Given the description of an element on the screen output the (x, y) to click on. 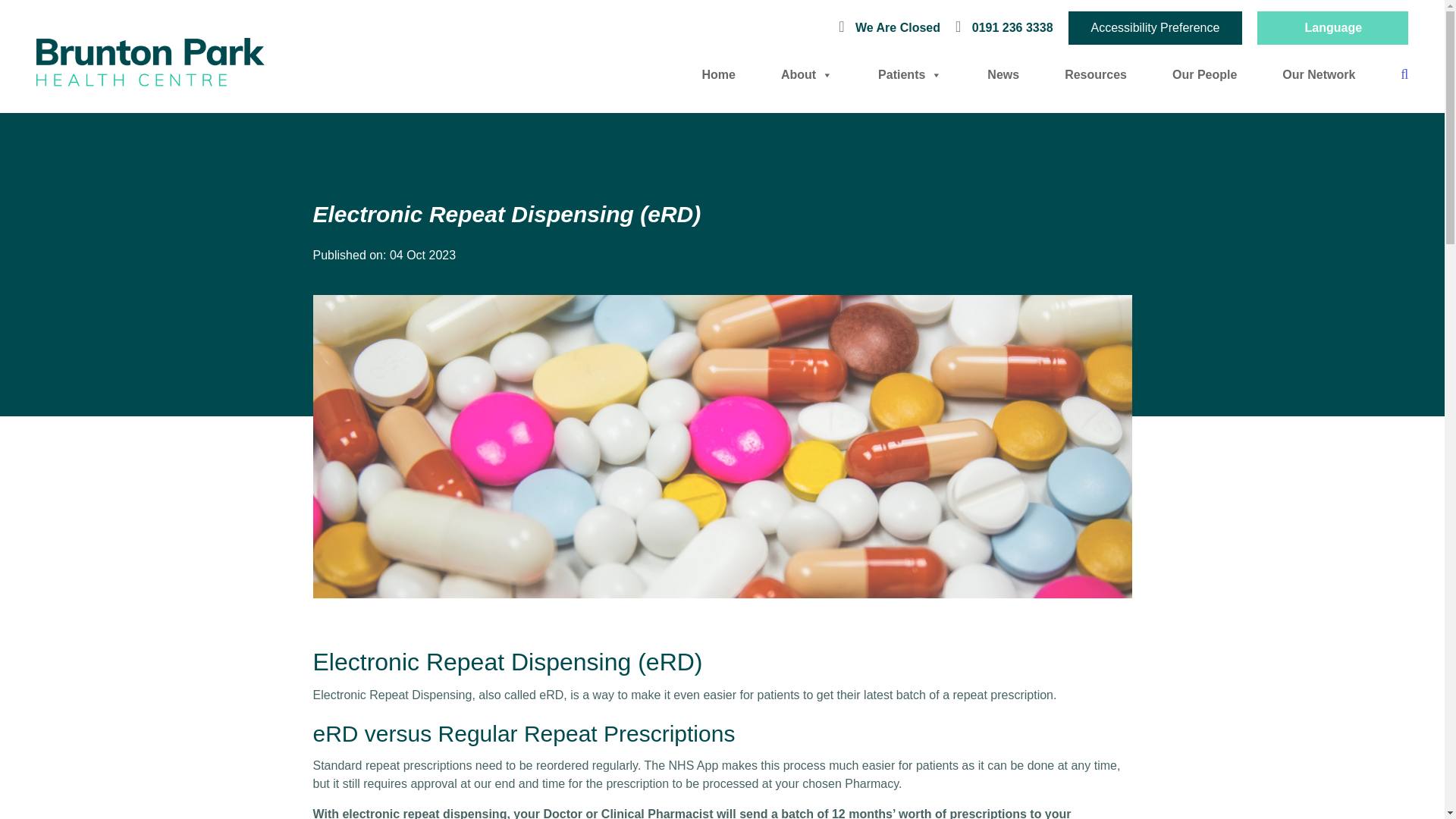
Select Language (1332, 27)
Accessibility Preference (1155, 28)
Call 0191 236 3338 (1003, 27)
About (806, 74)
0191 236 3338 (1003, 27)
Resources (1095, 74)
We Are Closed (893, 27)
News (1003, 74)
Accessibility Preference (1155, 28)
Our People (1204, 74)
